Given the description of an element on the screen output the (x, y) to click on. 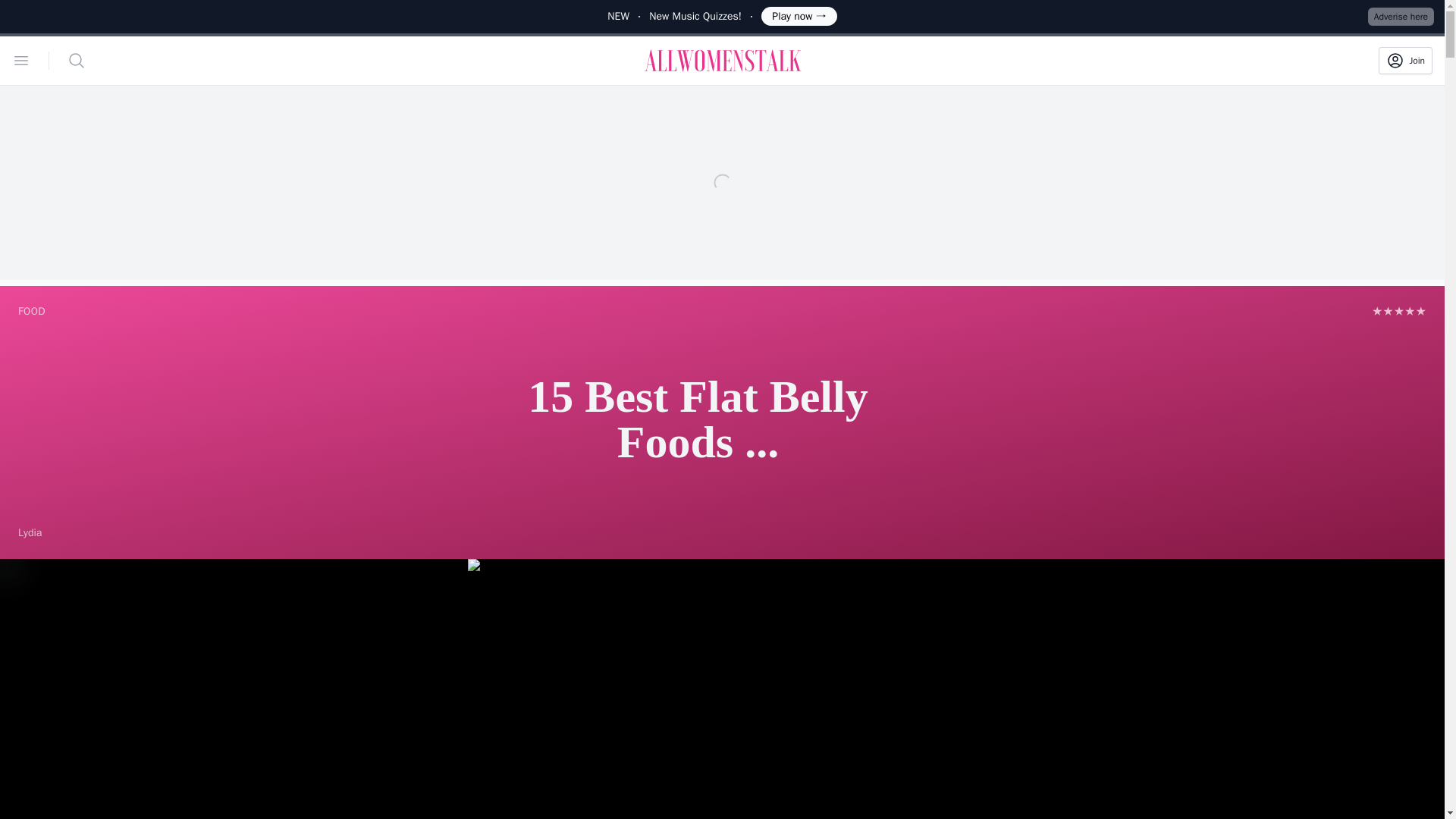
Adverise here (1401, 16)
